Given the description of an element on the screen output the (x, y) to click on. 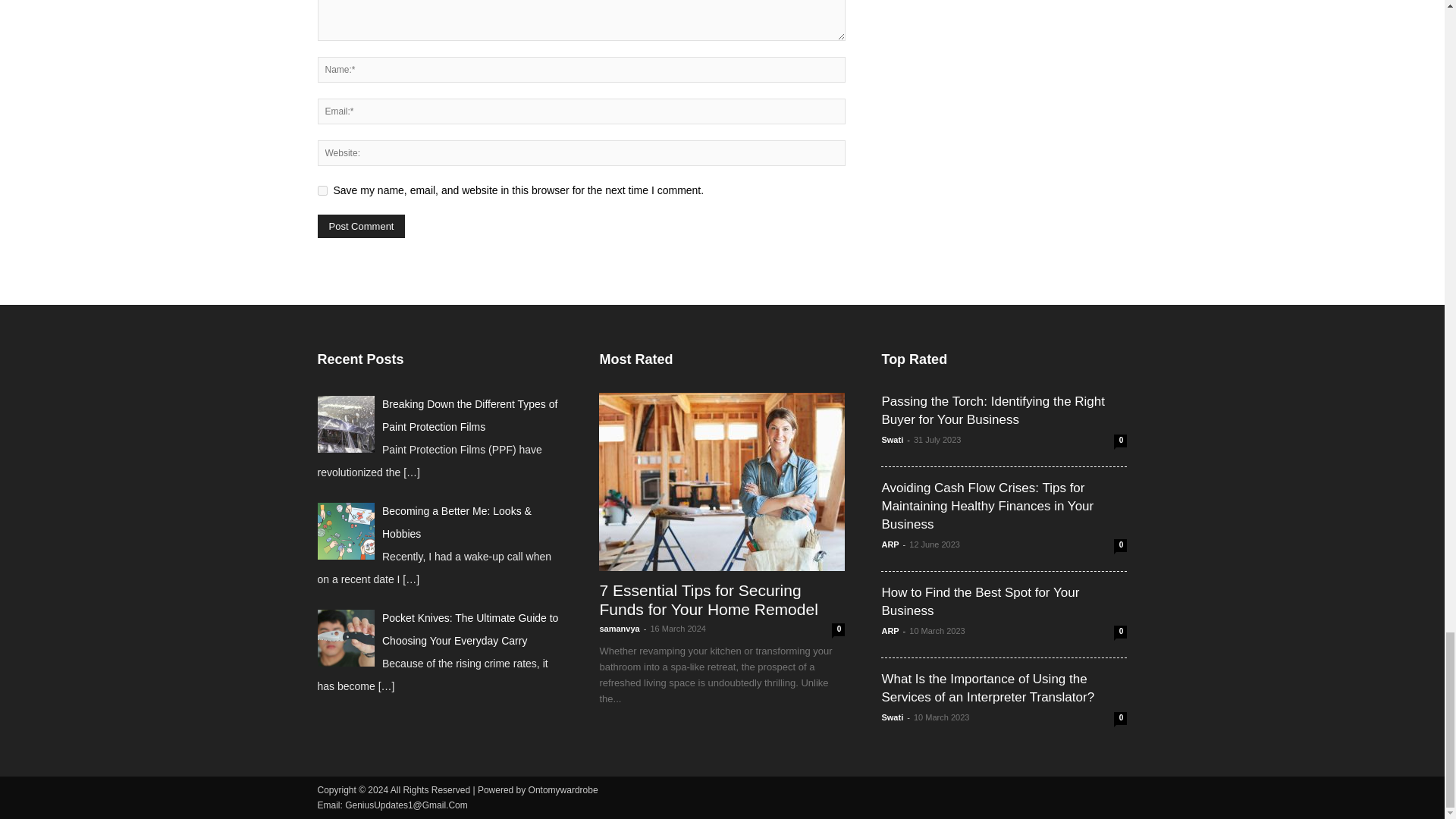
Post Comment (360, 226)
yes (321, 190)
